Given the description of an element on the screen output the (x, y) to click on. 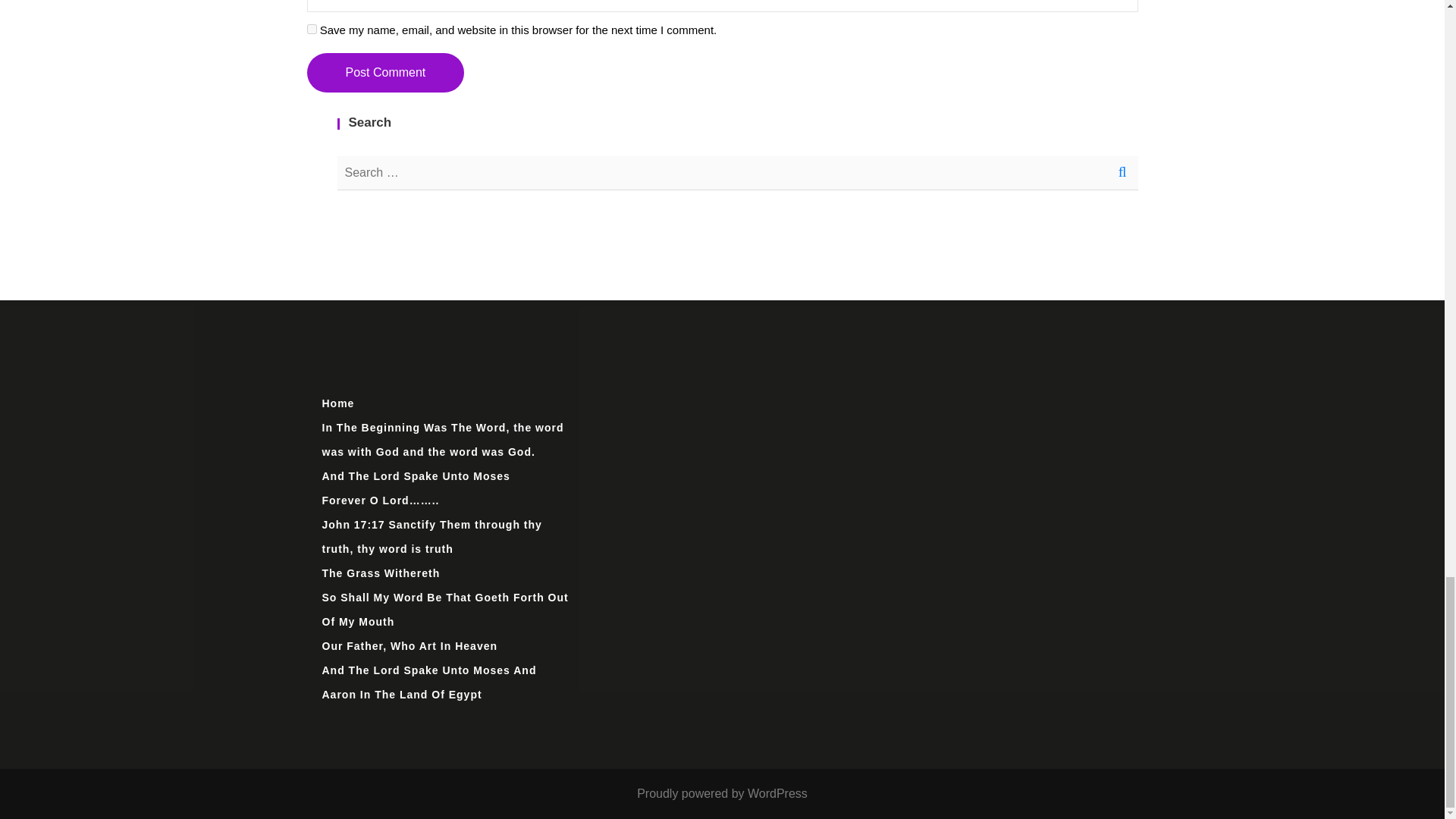
Search (1120, 173)
yes (310, 29)
Post Comment (384, 72)
Search (1120, 173)
